Given the description of an element on the screen output the (x, y) to click on. 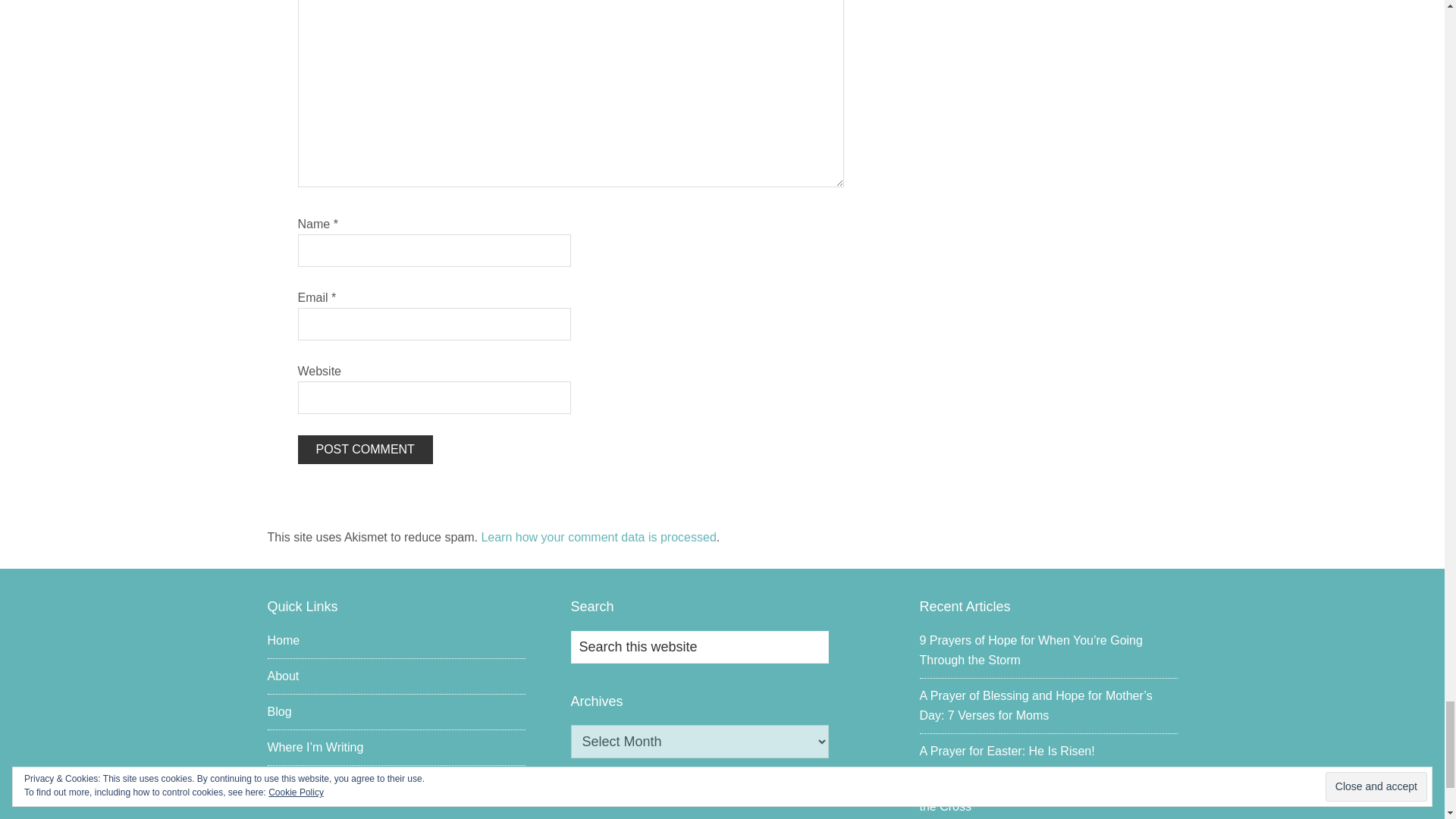
Post Comment (364, 449)
Post Comment (364, 449)
Learn how your comment data is processed (598, 536)
